Given the description of an element on the screen output the (x, y) to click on. 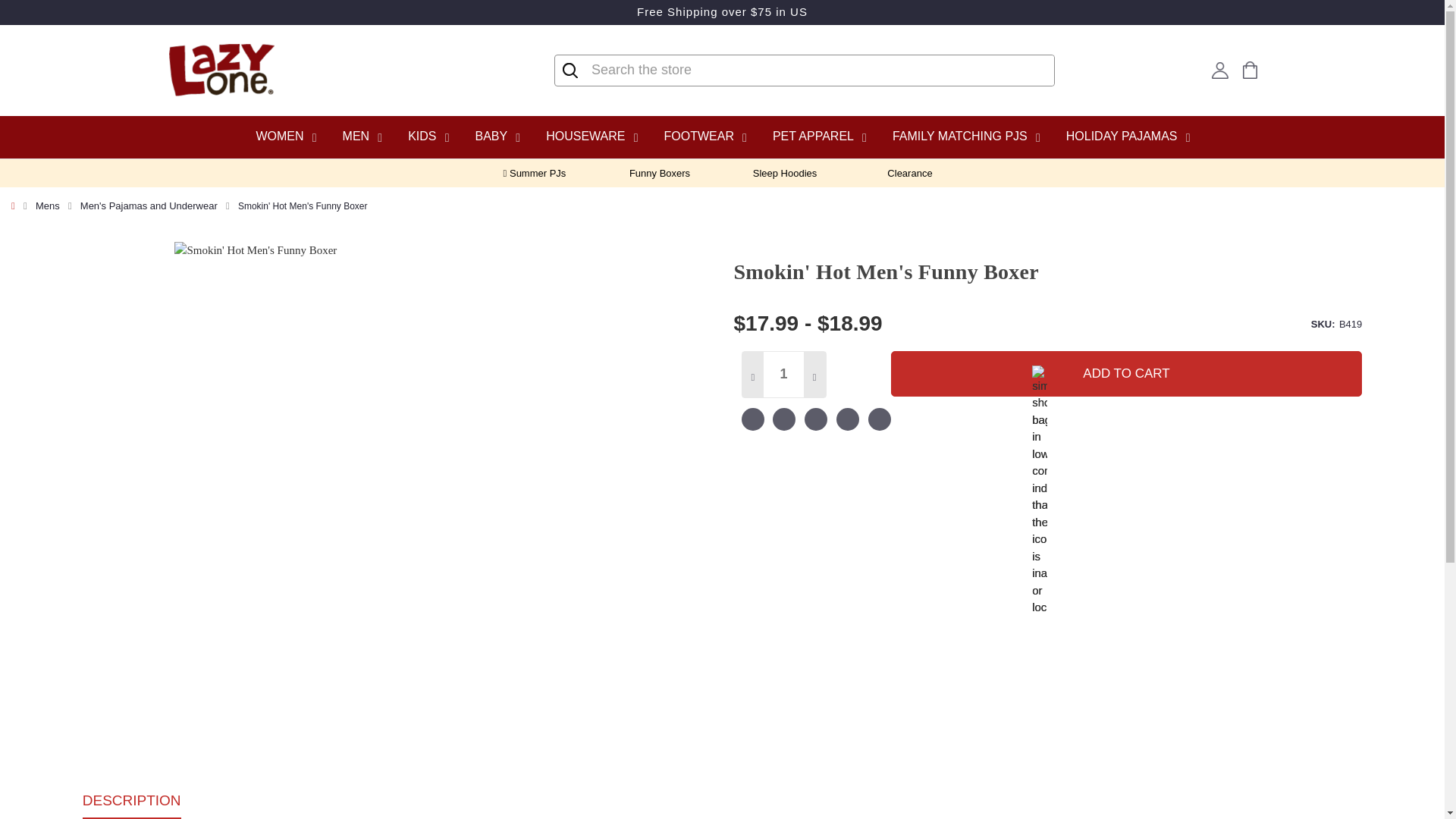
WOMEN (284, 135)
MEN (361, 135)
Pinterest (878, 421)
Facebook (752, 421)
Lazy One (221, 70)
KIDS (427, 135)
Email (784, 421)
Add to Cart (1126, 373)
BABY (496, 135)
Print (816, 421)
Twitter (848, 421)
